Given the description of an element on the screen output the (x, y) to click on. 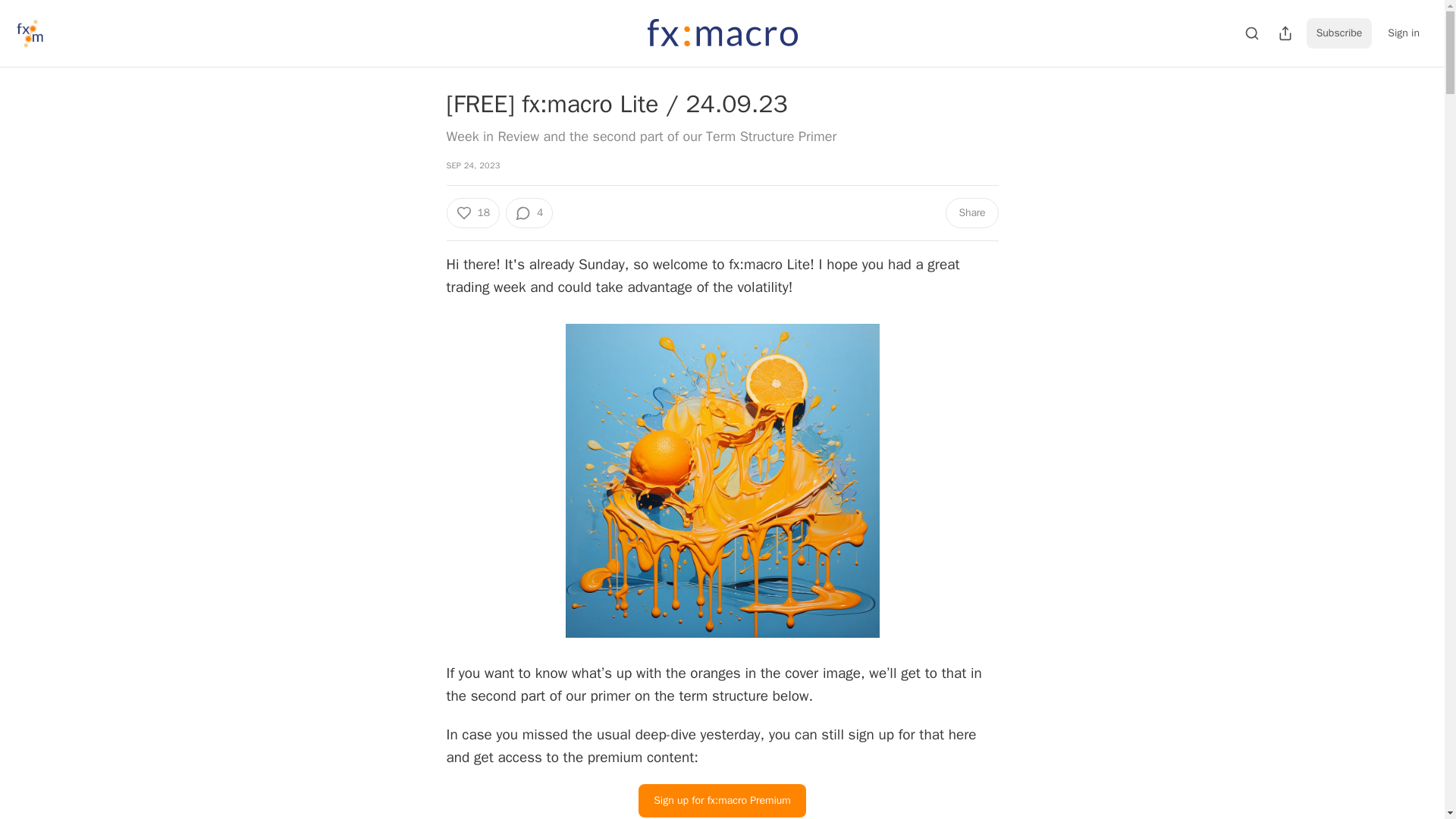
Share (970, 213)
18 (472, 213)
Sign up for fx:macro Premium (722, 800)
4 (529, 213)
Sign in (1403, 33)
Subscribe (1339, 33)
